Given the description of an element on the screen output the (x, y) to click on. 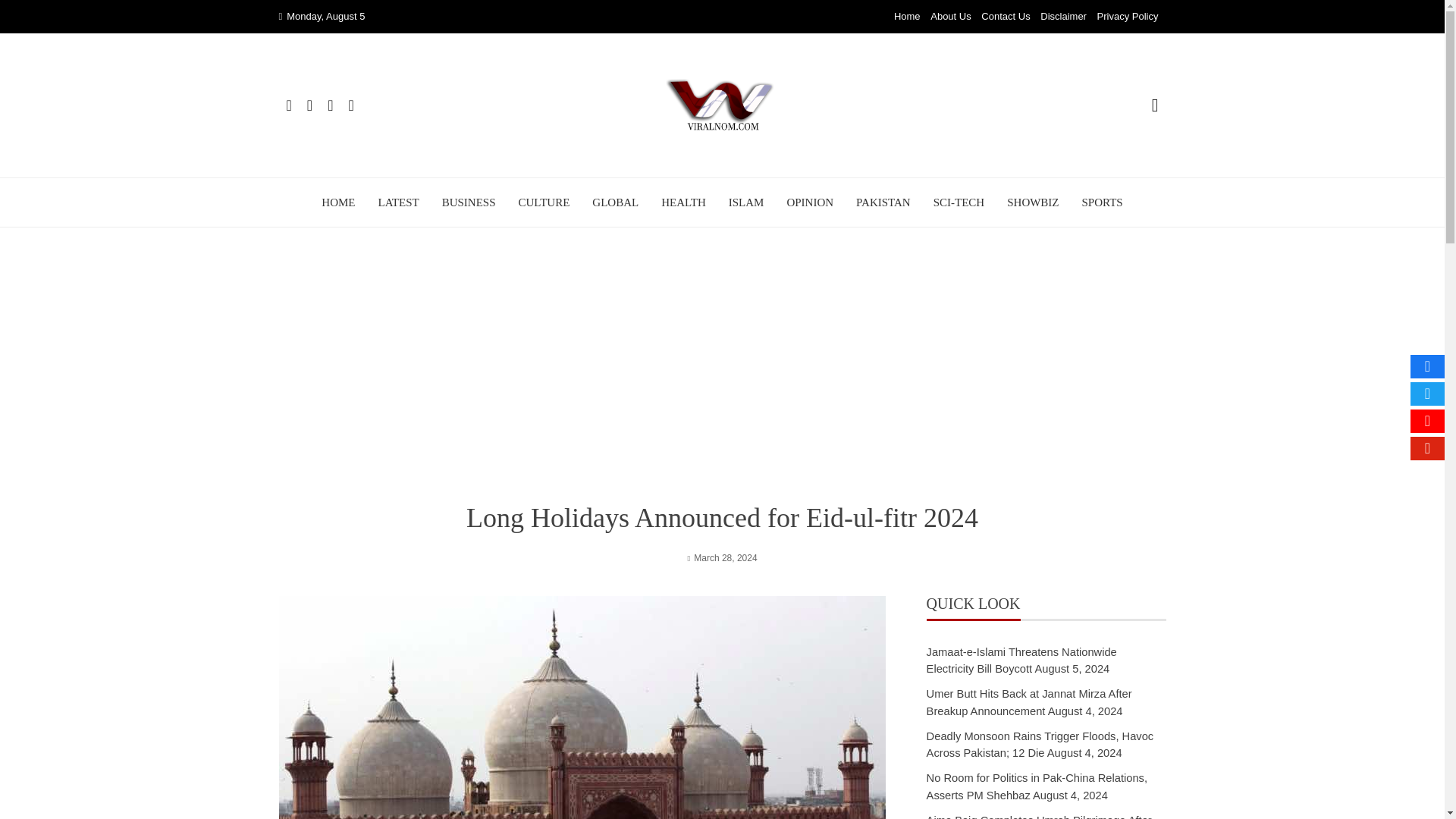
PAKISTAN (883, 202)
ISLAM (746, 202)
SCI-TECH (959, 202)
Contact Us (1005, 16)
GLOBAL (615, 202)
LATEST (398, 202)
SHOWBIZ (1032, 202)
About Us (950, 16)
HEALTH (683, 202)
CULTURE (544, 202)
SPORTS (1101, 202)
OPINION (809, 202)
